Given the description of an element on the screen output the (x, y) to click on. 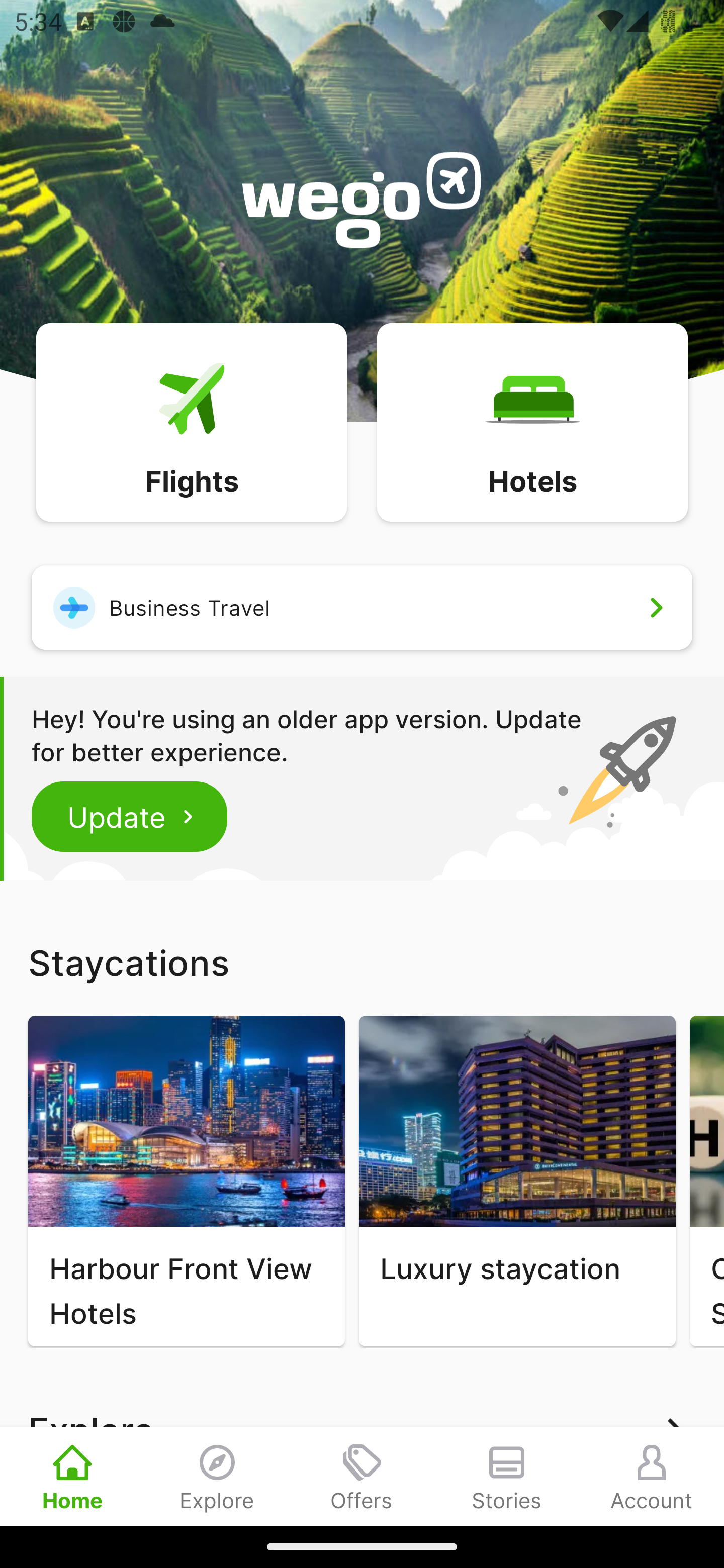
Flights (191, 420)
Hotels (532, 420)
Business Travel (361, 607)
Update (129, 815)
Staycations (362, 962)
Harbour Front View Hotels (186, 1181)
Luxury staycation (517, 1181)
Explore (216, 1475)
Offers (361, 1475)
Stories (506, 1475)
Account (651, 1475)
